Given the description of an element on the screen output the (x, y) to click on. 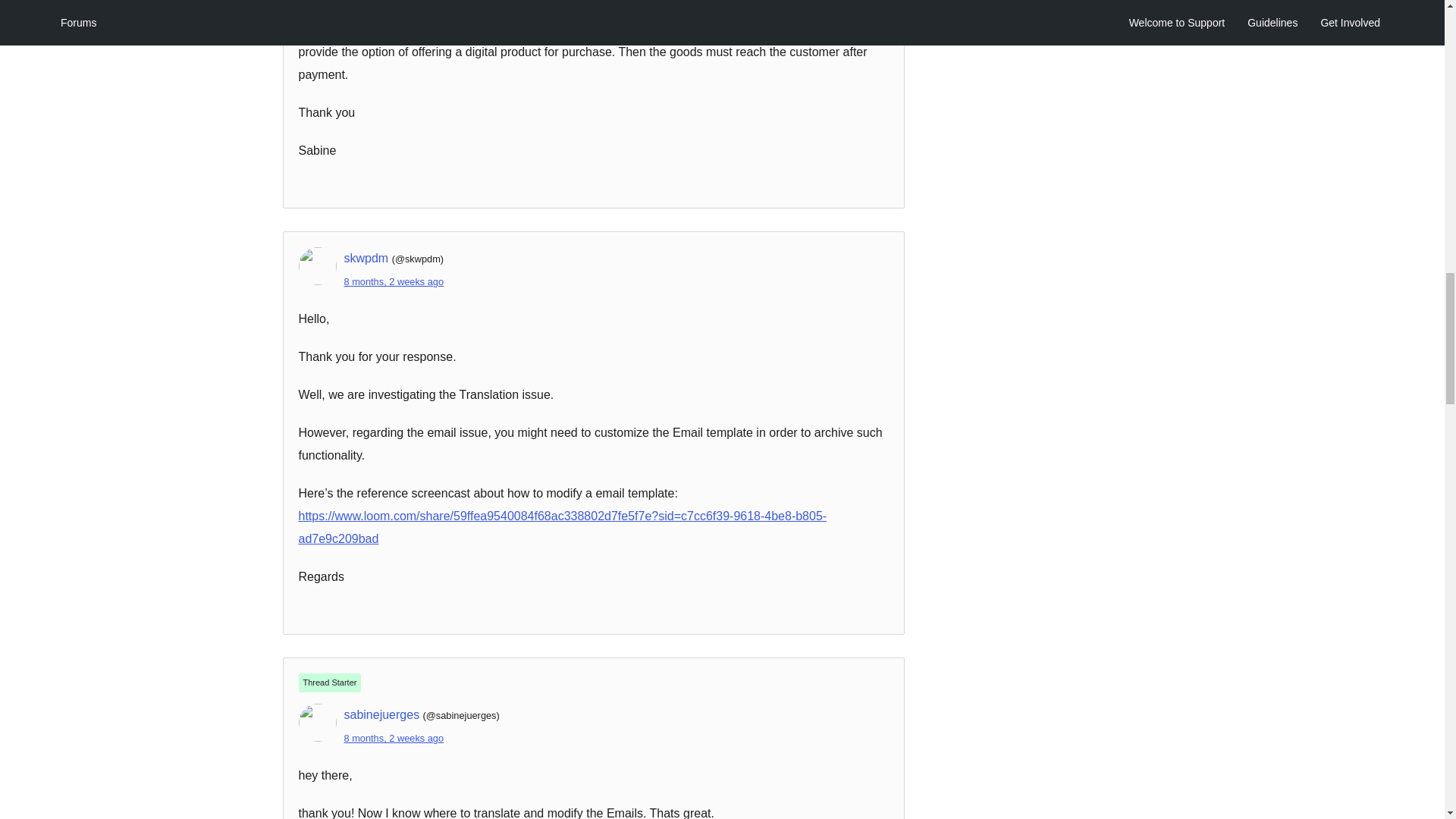
View skwpdm's profile (365, 257)
This person created the thread (329, 682)
November 8, 2023 at 1:09 pm (393, 737)
November 8, 2023 at 12:43 pm (393, 281)
View sabinejuerges's profile (381, 714)
